Given the description of an element on the screen output the (x, y) to click on. 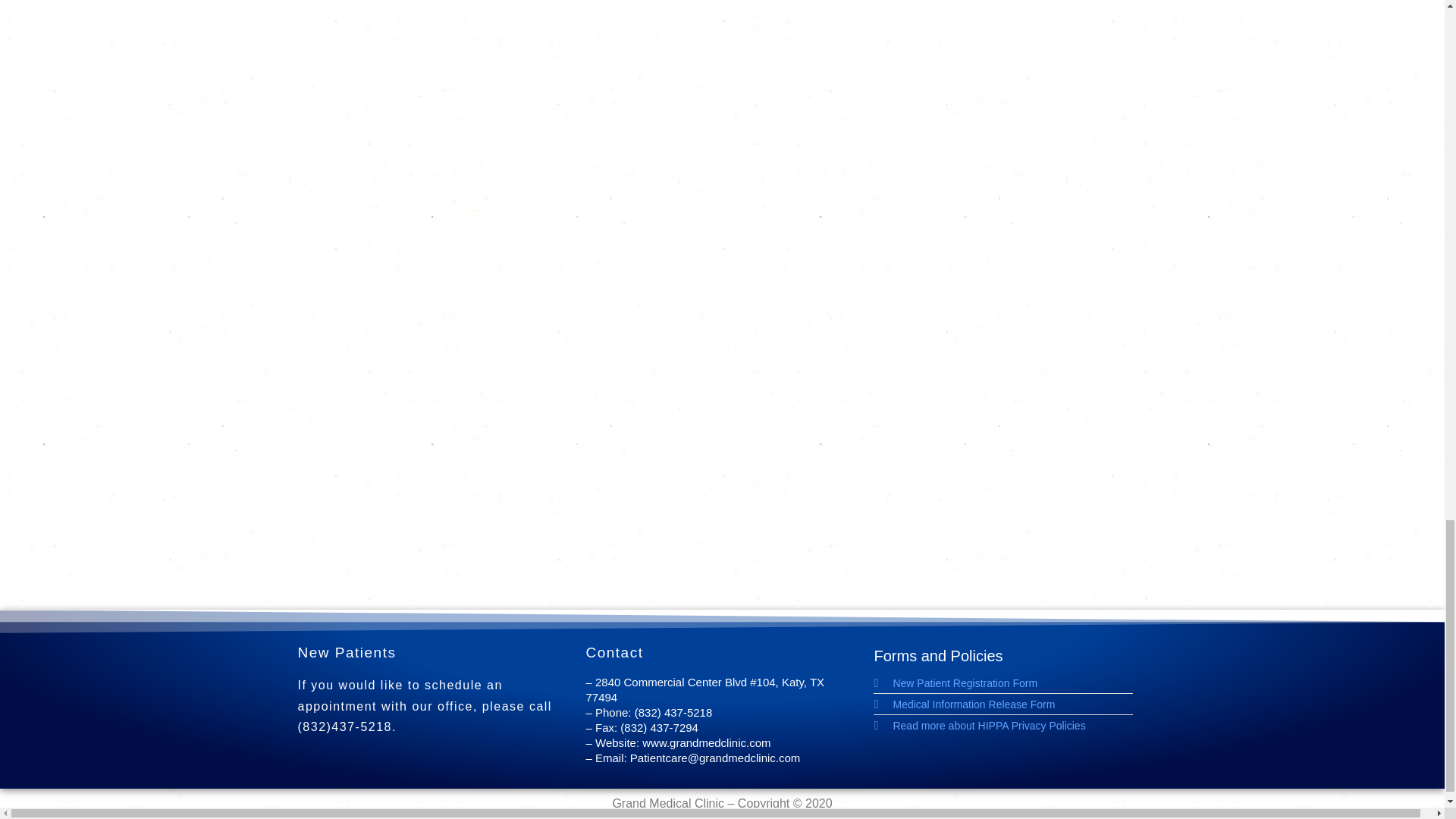
New Patient Registration Form (1010, 683)
Medical Information Release Form (1010, 703)
Read more about HIPPA Privacy Policies (1010, 725)
